Given the description of an element on the screen output the (x, y) to click on. 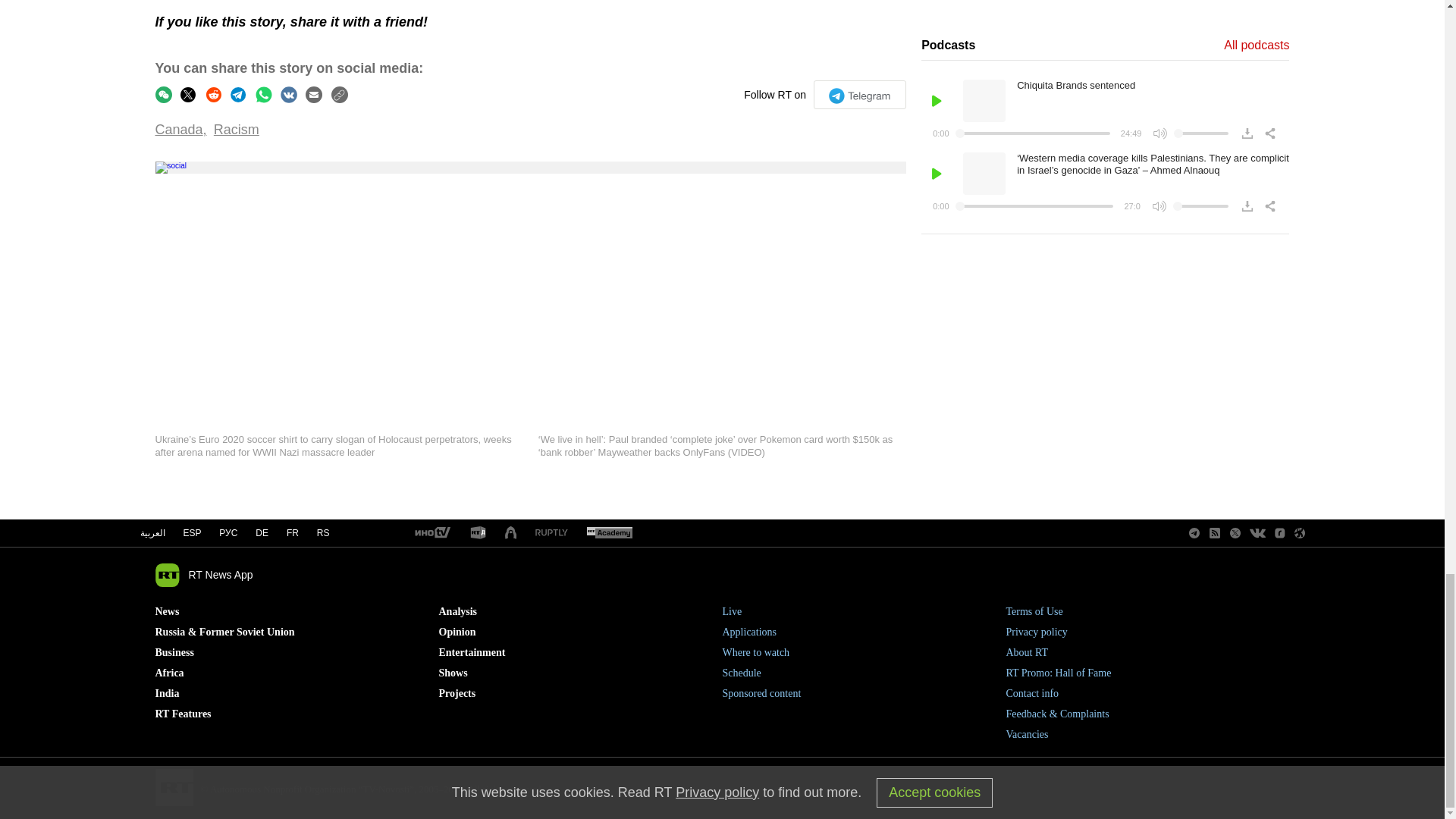
RT  (551, 533)
RT  (608, 533)
Racism (236, 129)
RT  (431, 533)
RT  (478, 533)
Canada (180, 129)
RT  (510, 533)
